Given the description of an element on the screen output the (x, y) to click on. 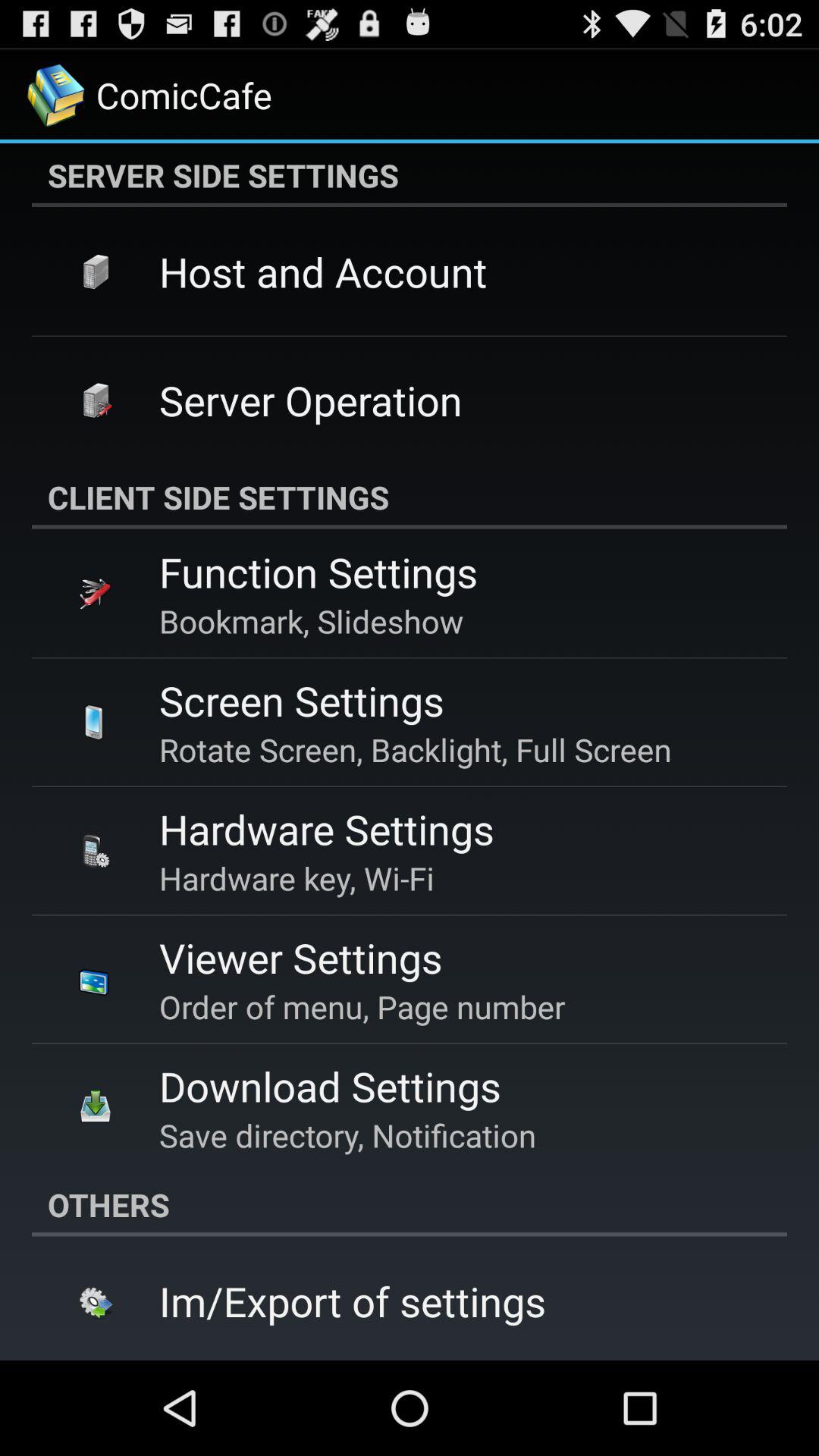
choose viewer settings app (300, 957)
